Given the description of an element on the screen output the (x, y) to click on. 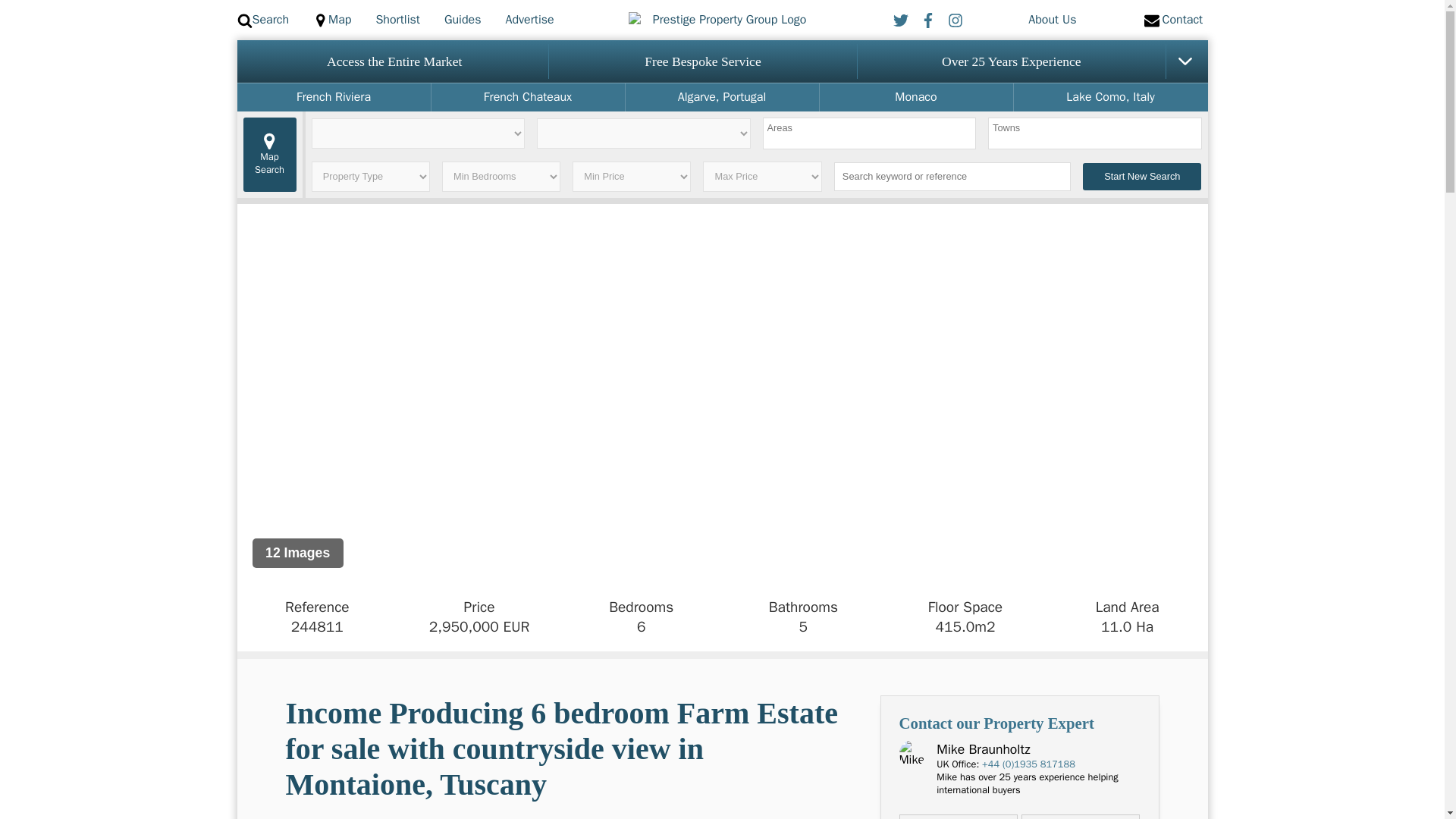
Contact (1168, 19)
Map (331, 19)
Start New Search (1142, 175)
French Riviera (332, 97)
Advertise (529, 19)
12 Images (296, 553)
Guides (462, 19)
Search (261, 19)
Monaco (914, 97)
French Chateaux (527, 97)
